Given the description of an element on the screen output the (x, y) to click on. 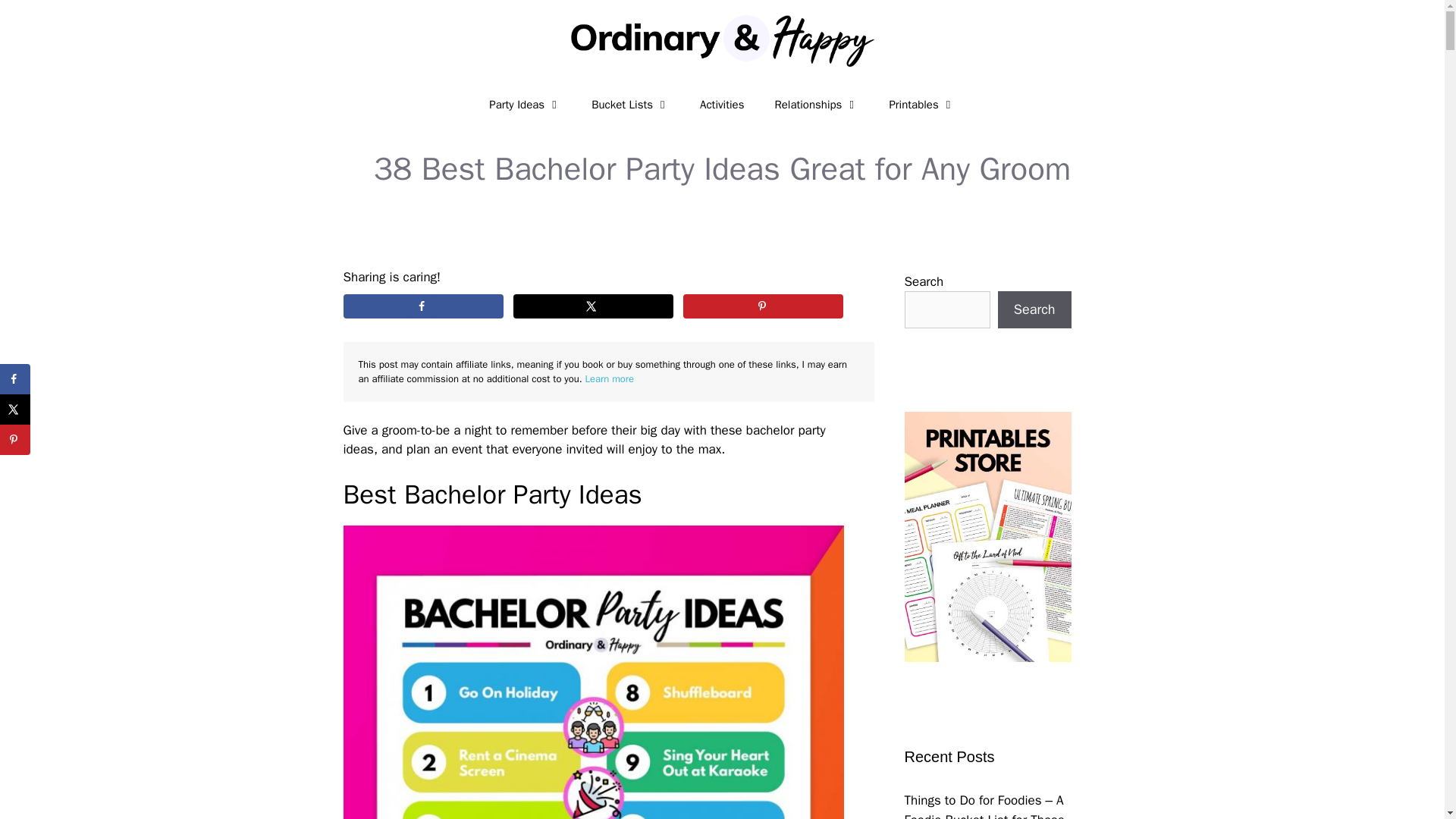
Learn more (607, 378)
Bucket Lists (630, 104)
Save to Pinterest (15, 440)
Activities (721, 104)
Share on Facebook (422, 306)
Printables (921, 104)
Relationships (815, 104)
Save to Pinterest (762, 306)
Share on X (15, 409)
Share on Facebook (15, 378)
Share on X (592, 306)
Party Ideas (525, 104)
